Given the description of an element on the screen output the (x, y) to click on. 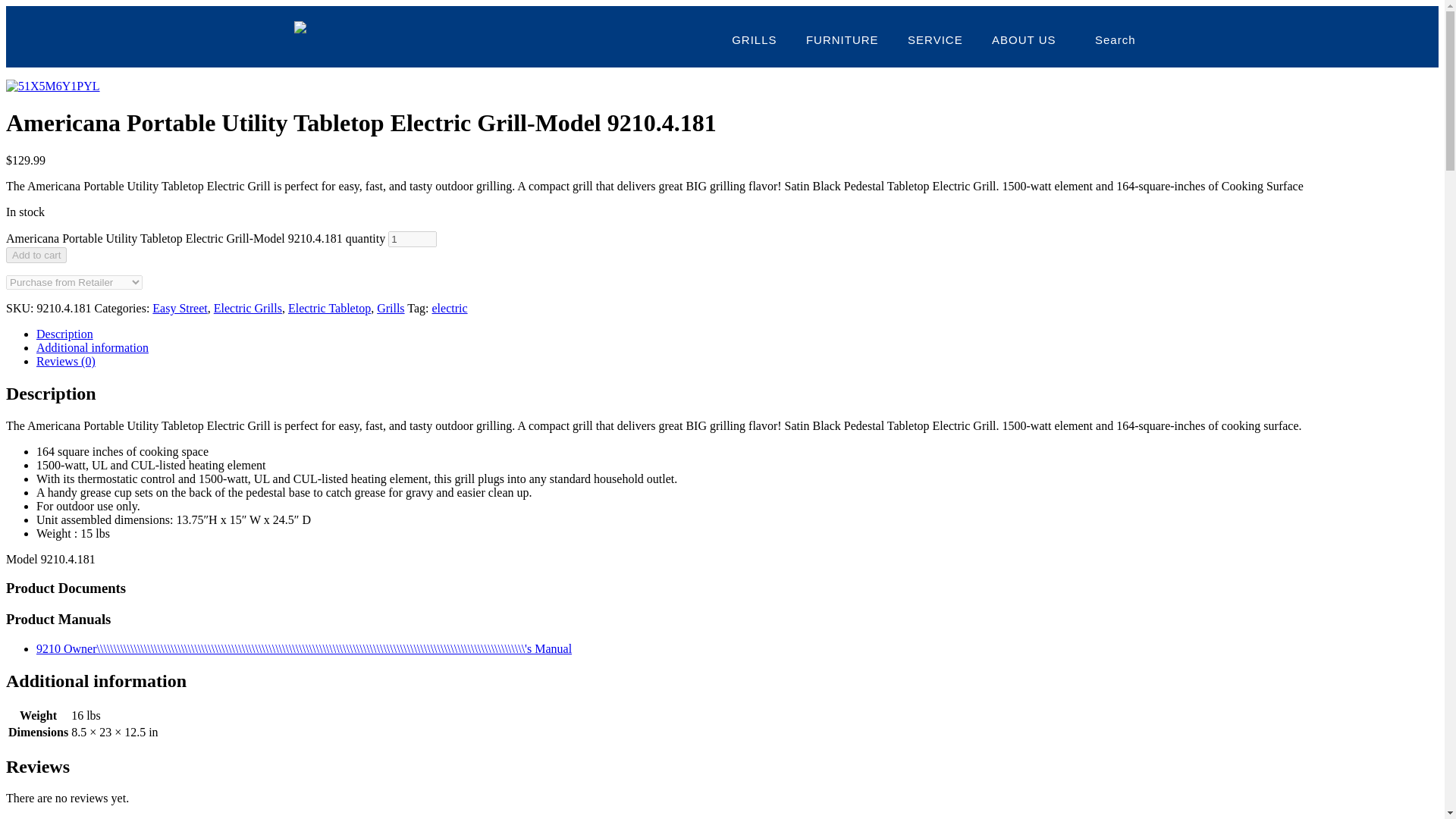
51X5M6Y1PYL (52, 85)
Electric Tabletop (329, 308)
Additional information (92, 347)
FURNITURE (842, 39)
1 (412, 238)
Add to cart (35, 254)
ABOUT US (1023, 39)
Electric Grills (248, 308)
Grills (390, 308)
Easy Street (179, 308)
